Given the description of an element on the screen output the (x, y) to click on. 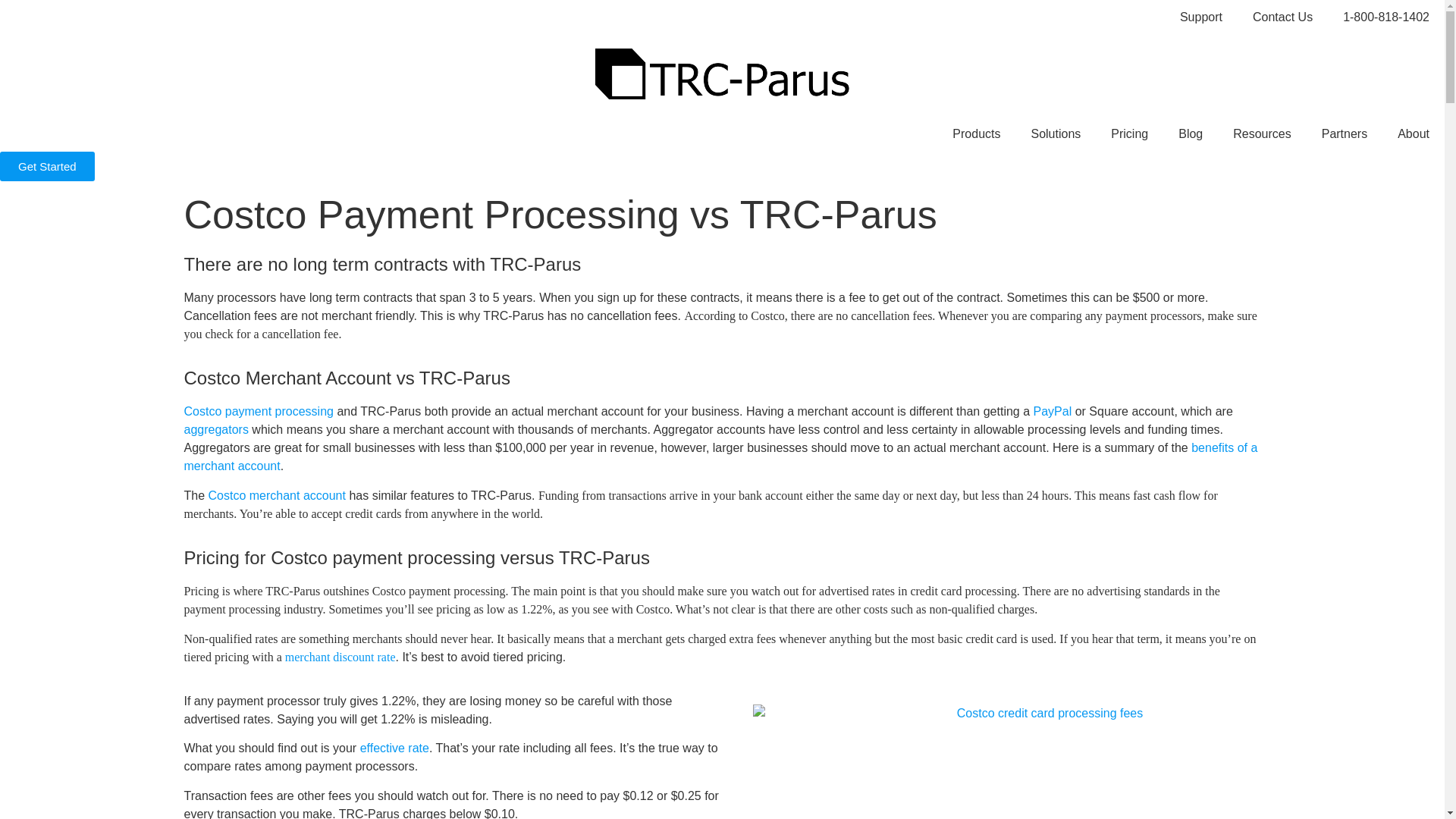
Products (975, 134)
Resources (1261, 134)
Support (1200, 17)
Contact Us (1282, 17)
Solutions (1055, 134)
Pricing (1129, 134)
Partners (1343, 134)
Blog (1190, 134)
